Given the description of an element on the screen output the (x, y) to click on. 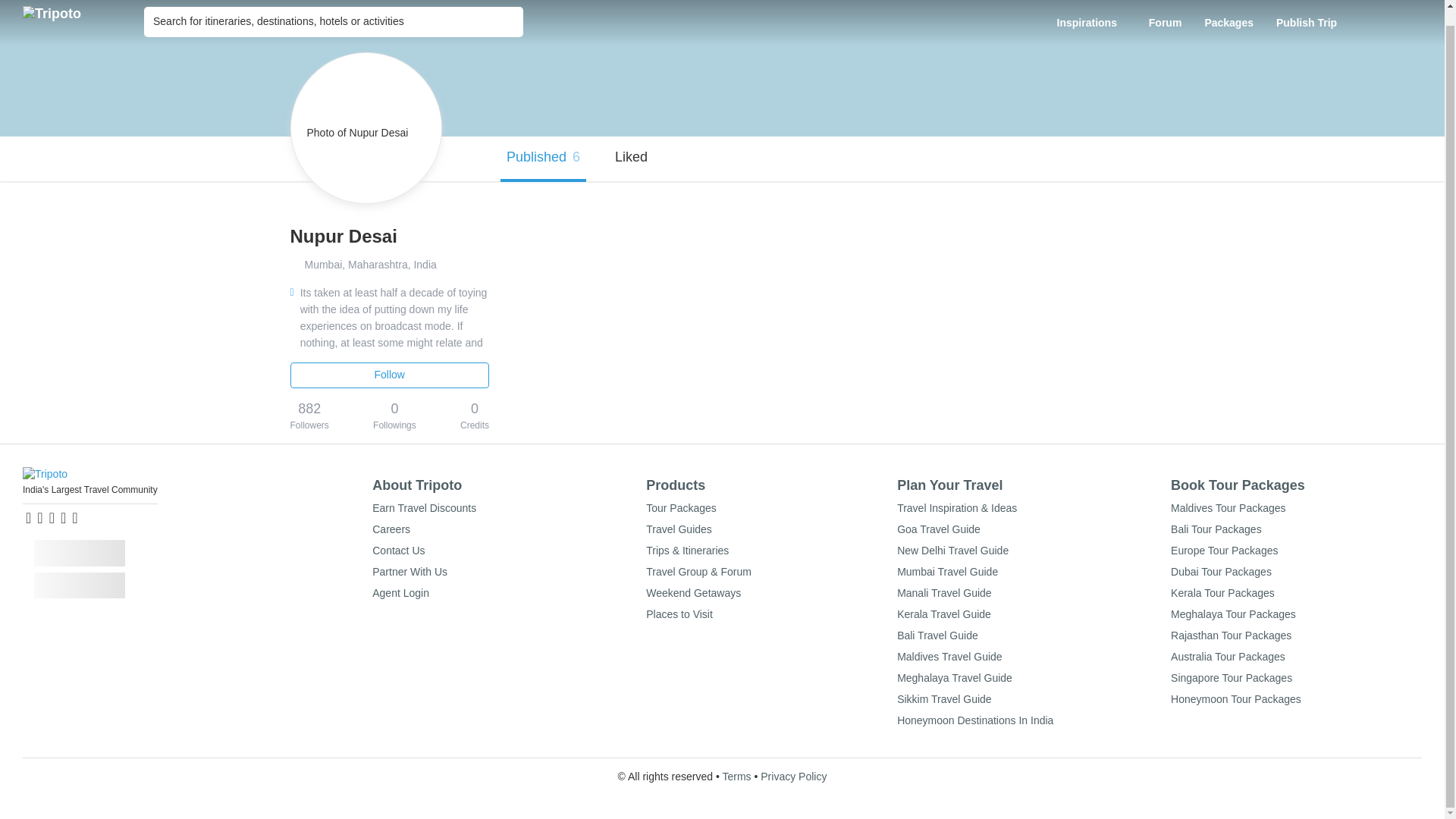
Forum (1165, 15)
Inspirations (1091, 15)
Travel Guides (678, 529)
Packages (1228, 15)
Follow (389, 375)
Contact Us (398, 550)
Tour Packages (681, 508)
Forum (1165, 15)
Earn Travel Discounts (424, 508)
Agent Login (400, 592)
